Given the description of an element on the screen output the (x, y) to click on. 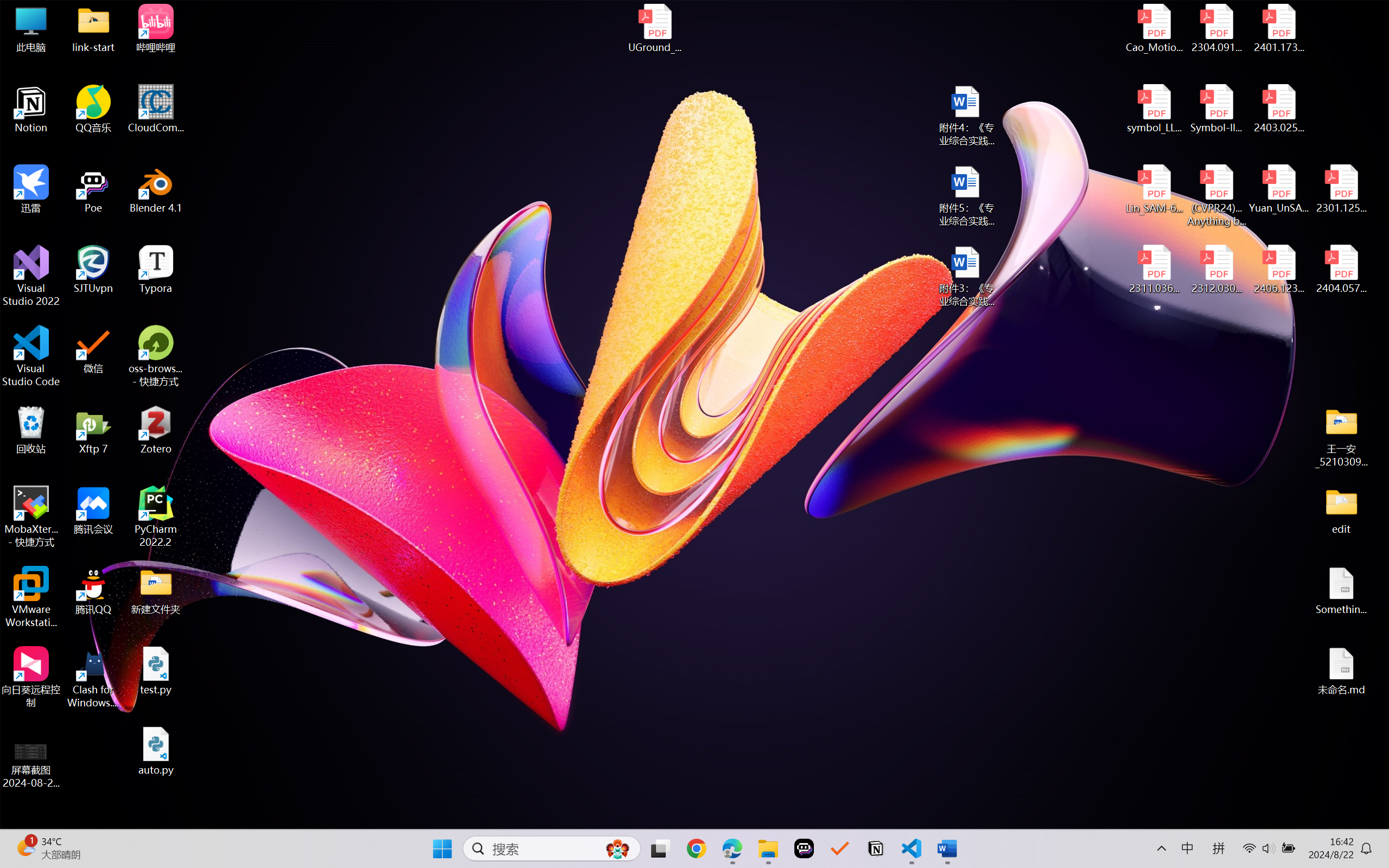
2401.17399v1.pdf (1278, 28)
(CVPR24)Matching Anything by Segmenting Anything.pdf (1216, 195)
PyCharm 2022.2 (156, 516)
SJTUvpn (93, 269)
